Given the description of an element on the screen output the (x, y) to click on. 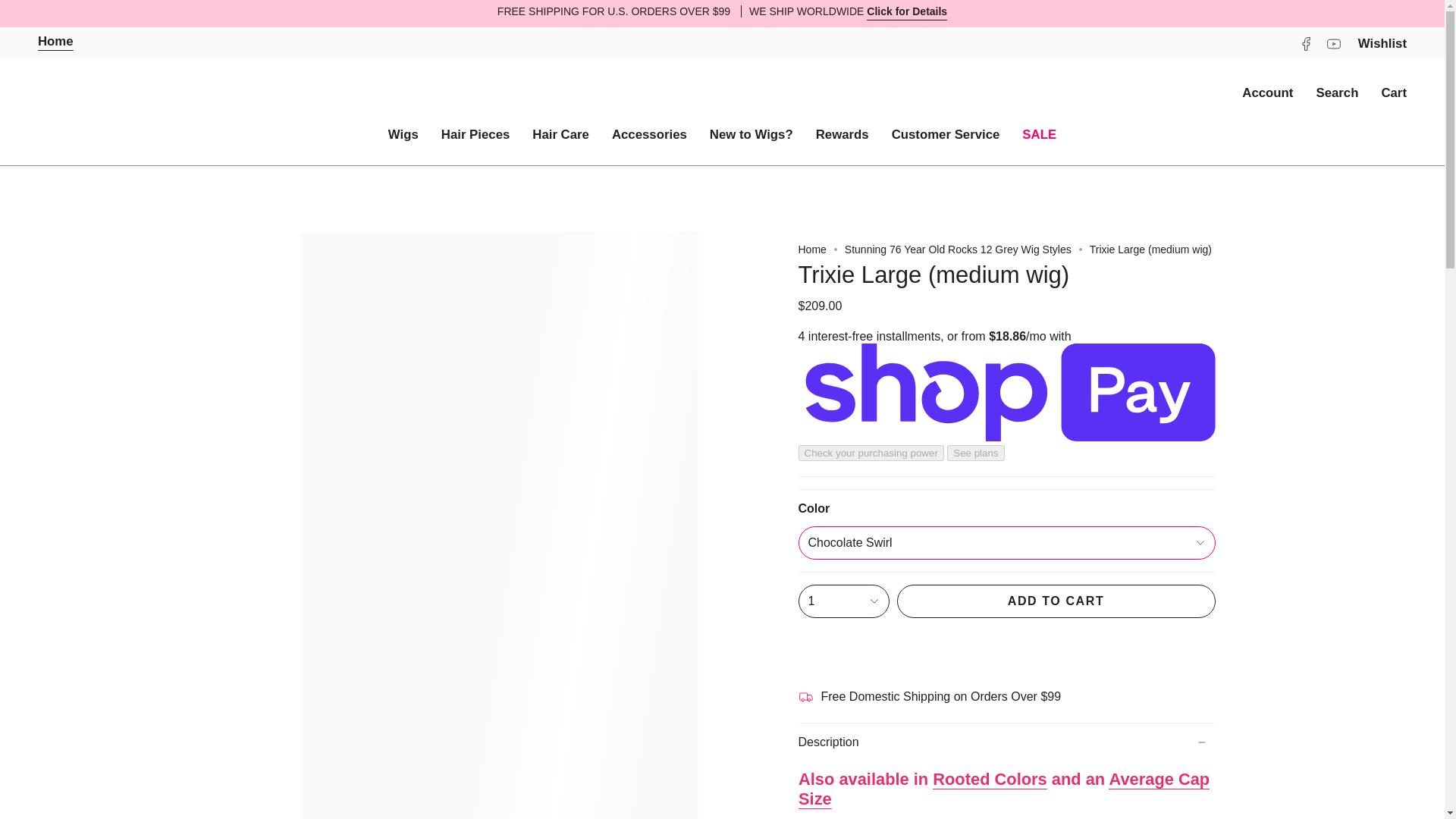
Search (1337, 93)
Godiva's Secret on YouTube (1333, 42)
Home (55, 43)
Wigs (403, 134)
Account (1267, 93)
My Account (1267, 93)
YouTube (1333, 42)
Facebook (1306, 42)
Cart (1394, 93)
Cart (1394, 93)
Wishlist (1382, 43)
Click for Details (906, 13)
Godiva's Secret on Facebook (1306, 42)
